Given the description of an element on the screen output the (x, y) to click on. 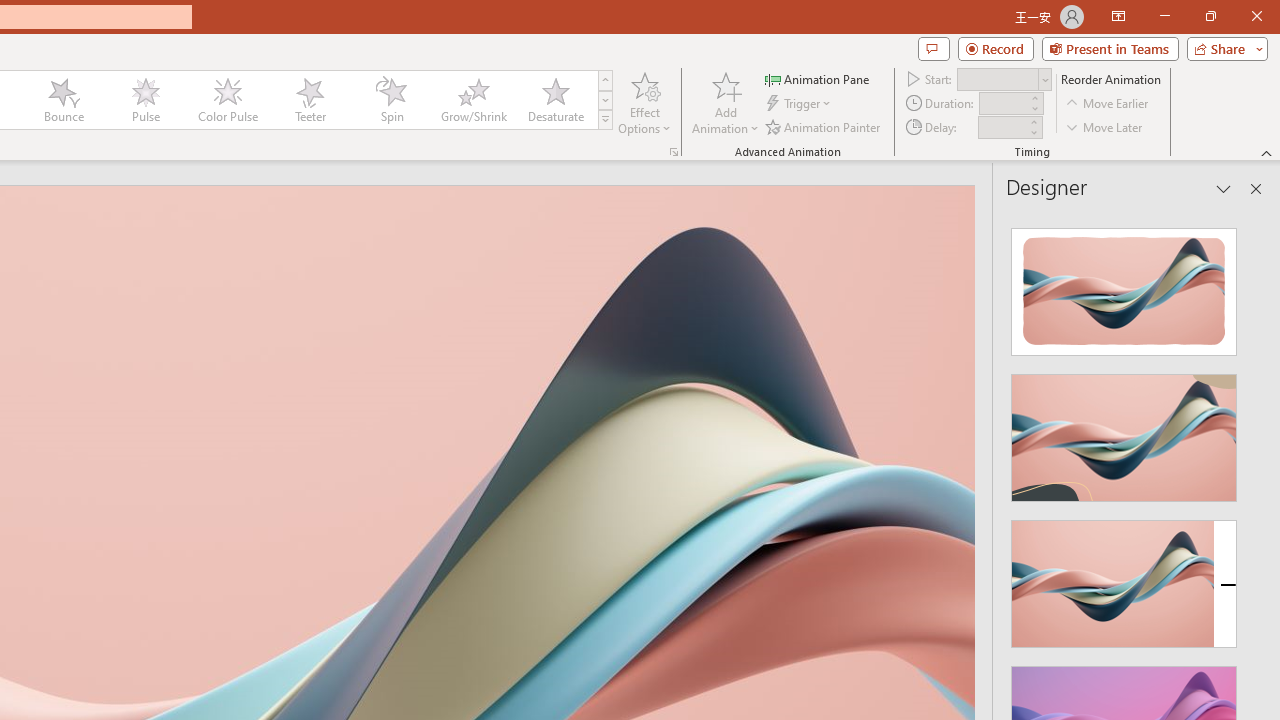
Animation Painter (824, 126)
Animation Pane (818, 78)
Animation Delay (1002, 127)
Spin (391, 100)
Effect Options (644, 102)
More Options... (673, 151)
